Given the description of an element on the screen output the (x, y) to click on. 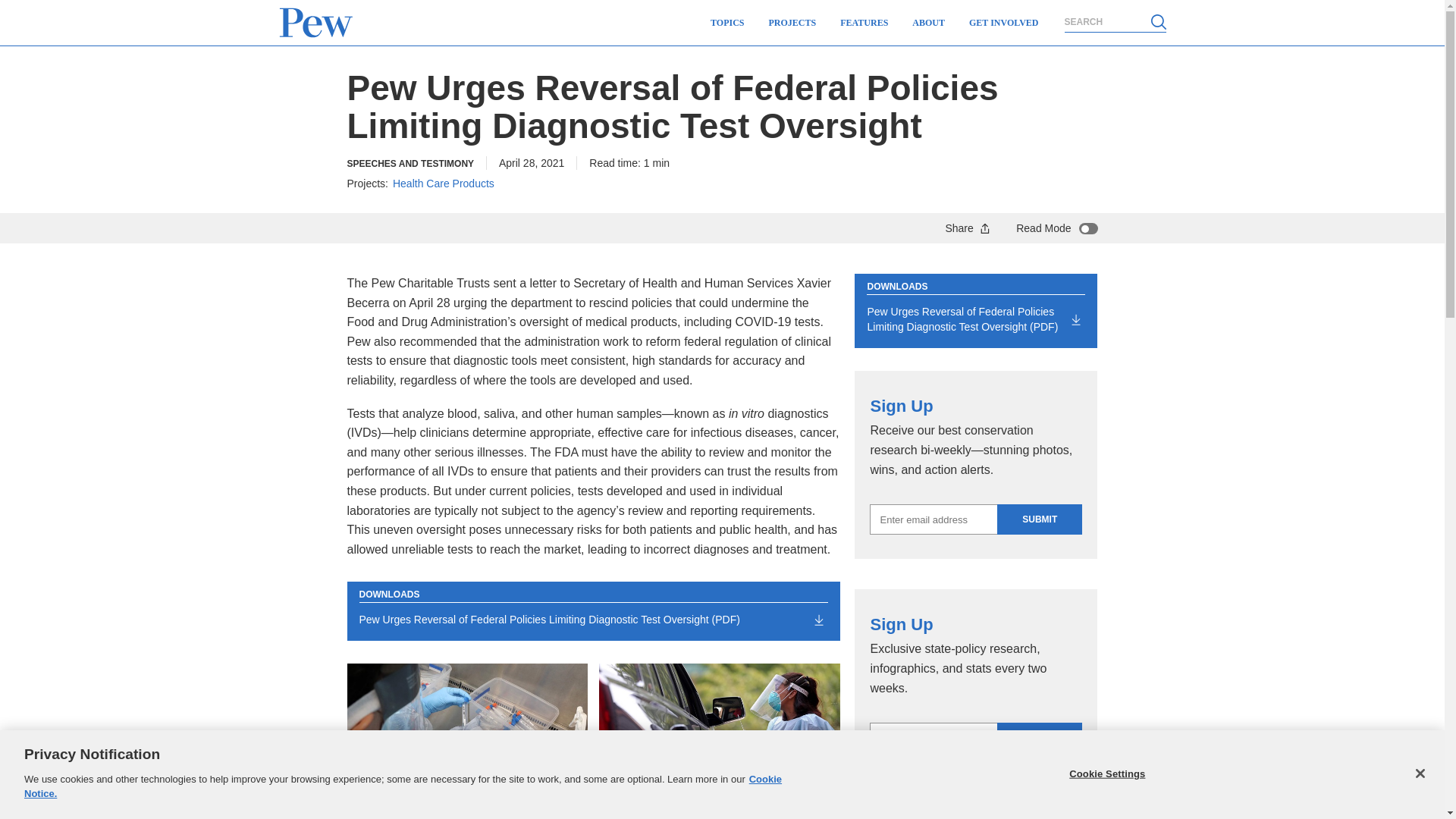
Getty (719, 731)
TOPICS (726, 22)
Submit (1039, 519)
Diagnostic Test (467, 731)
Submit (1039, 737)
PROJECTS (792, 22)
